Given the description of an element on the screen output the (x, y) to click on. 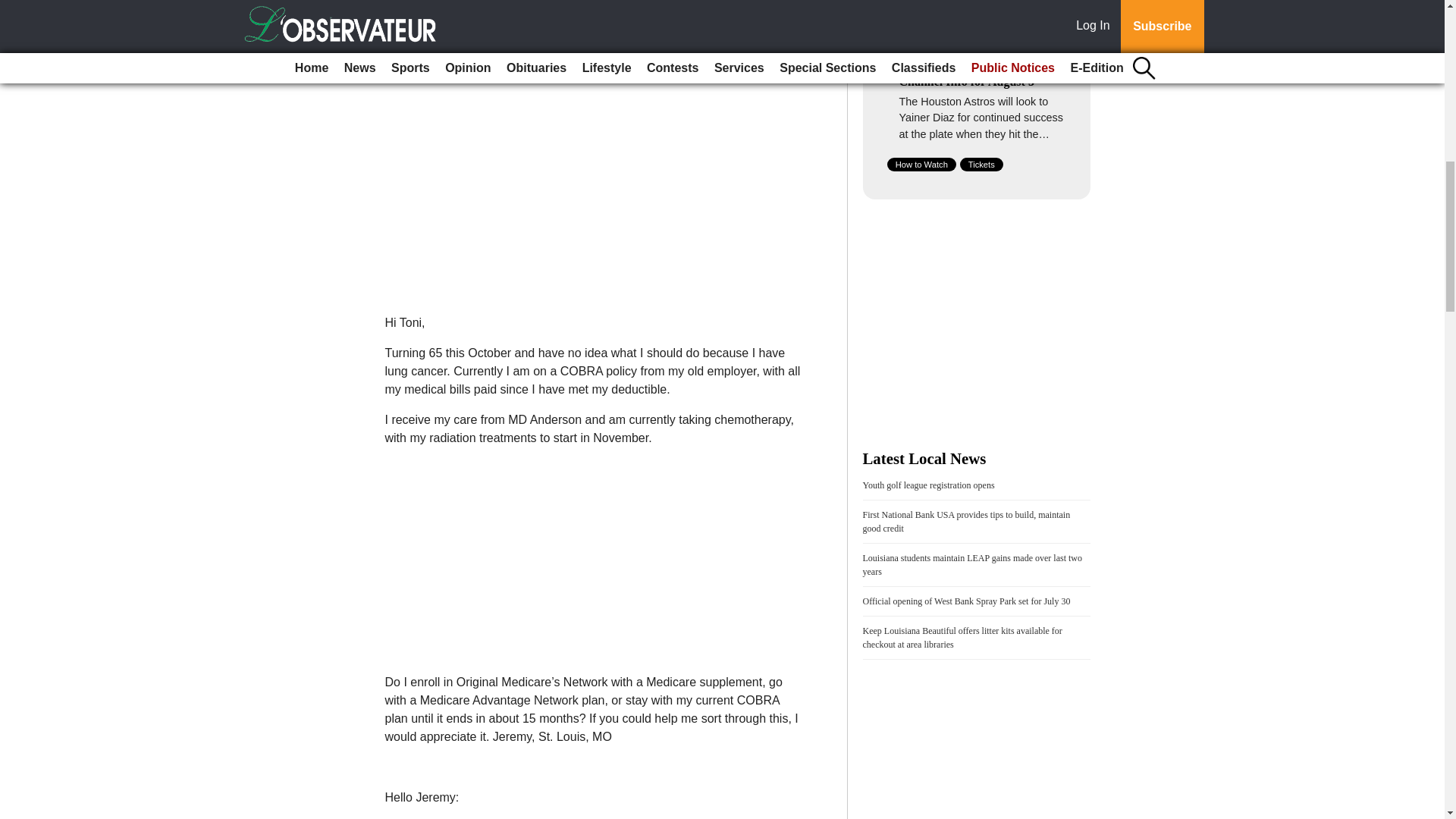
Youth golf league registration opens (928, 484)
Tickets (981, 164)
How to Watch (921, 164)
